Given the description of an element on the screen output the (x, y) to click on. 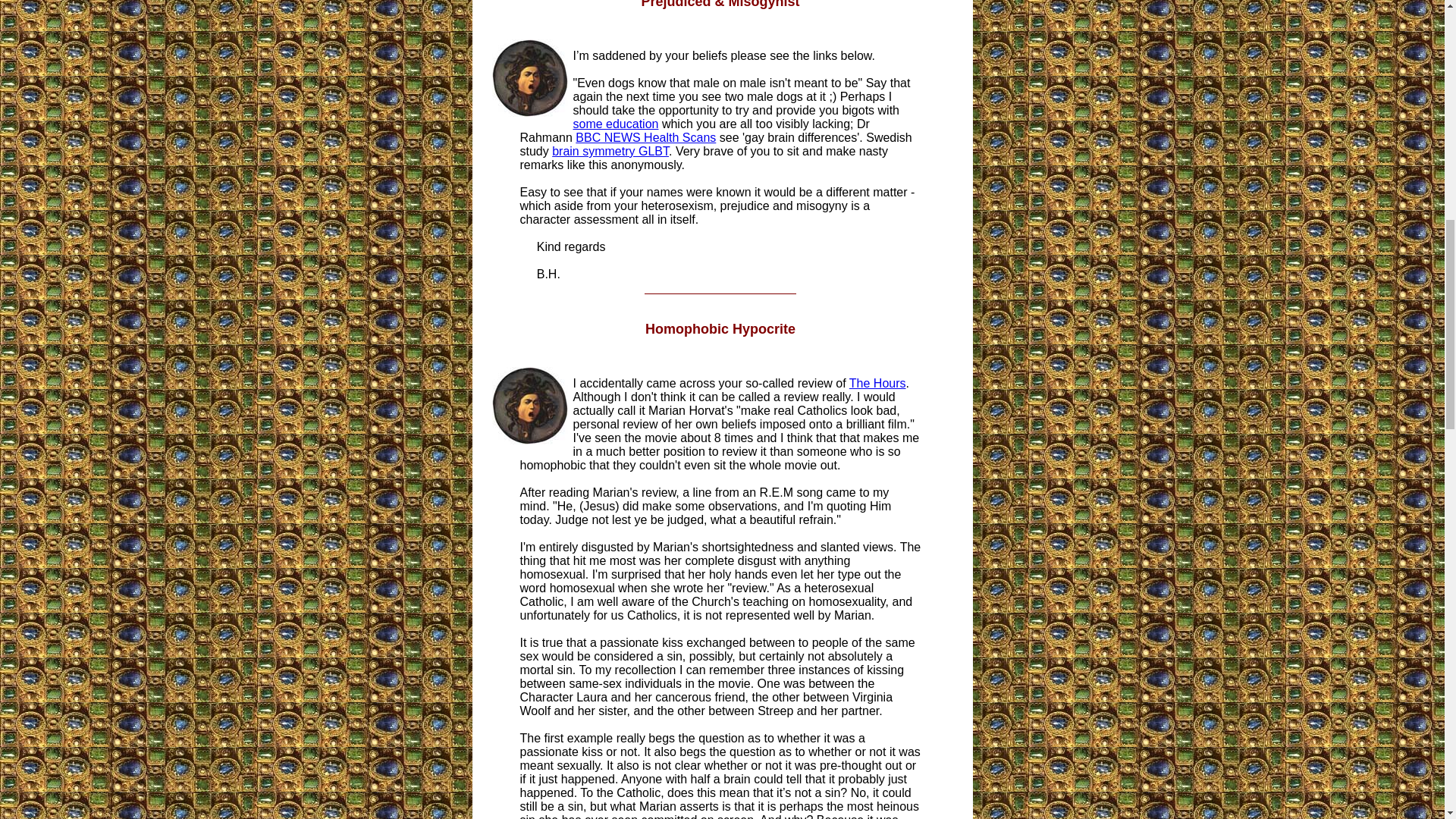
The Hours (876, 382)
some education (616, 123)
BBC NEWS Health Scans (645, 137)
brain symmetry GLBT (609, 151)
